Given the description of an element on the screen output the (x, y) to click on. 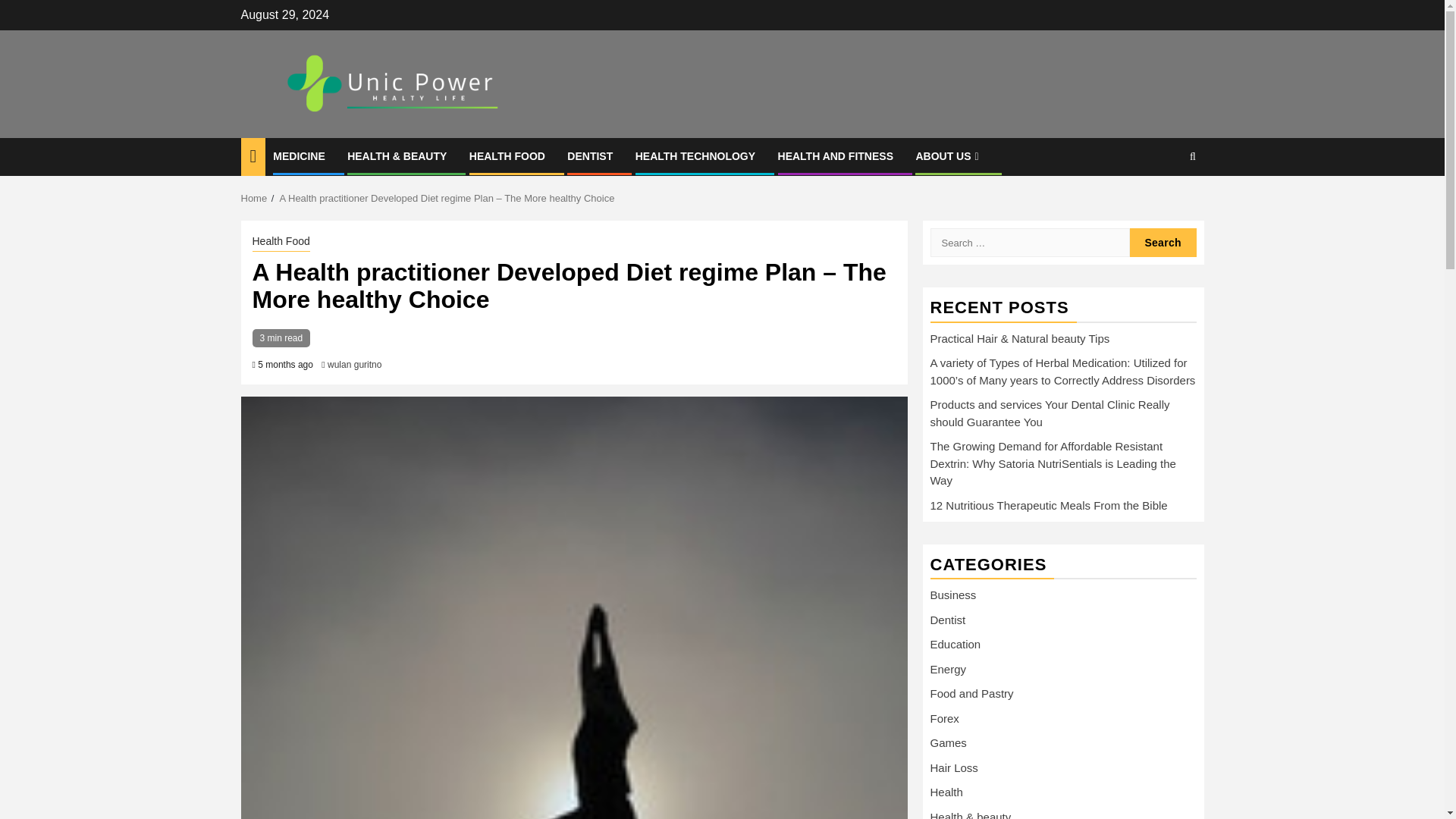
Search (1163, 203)
DENTIST (589, 155)
Health Food (279, 242)
HEALTH AND FITNESS (835, 155)
ABOUT US (948, 155)
Search (1162, 242)
HEALTH TECHNOLOGY (694, 155)
MEDICINE (298, 155)
wulan guritno (354, 364)
HEALTH FOOD (506, 155)
